Given the description of an element on the screen output the (x, y) to click on. 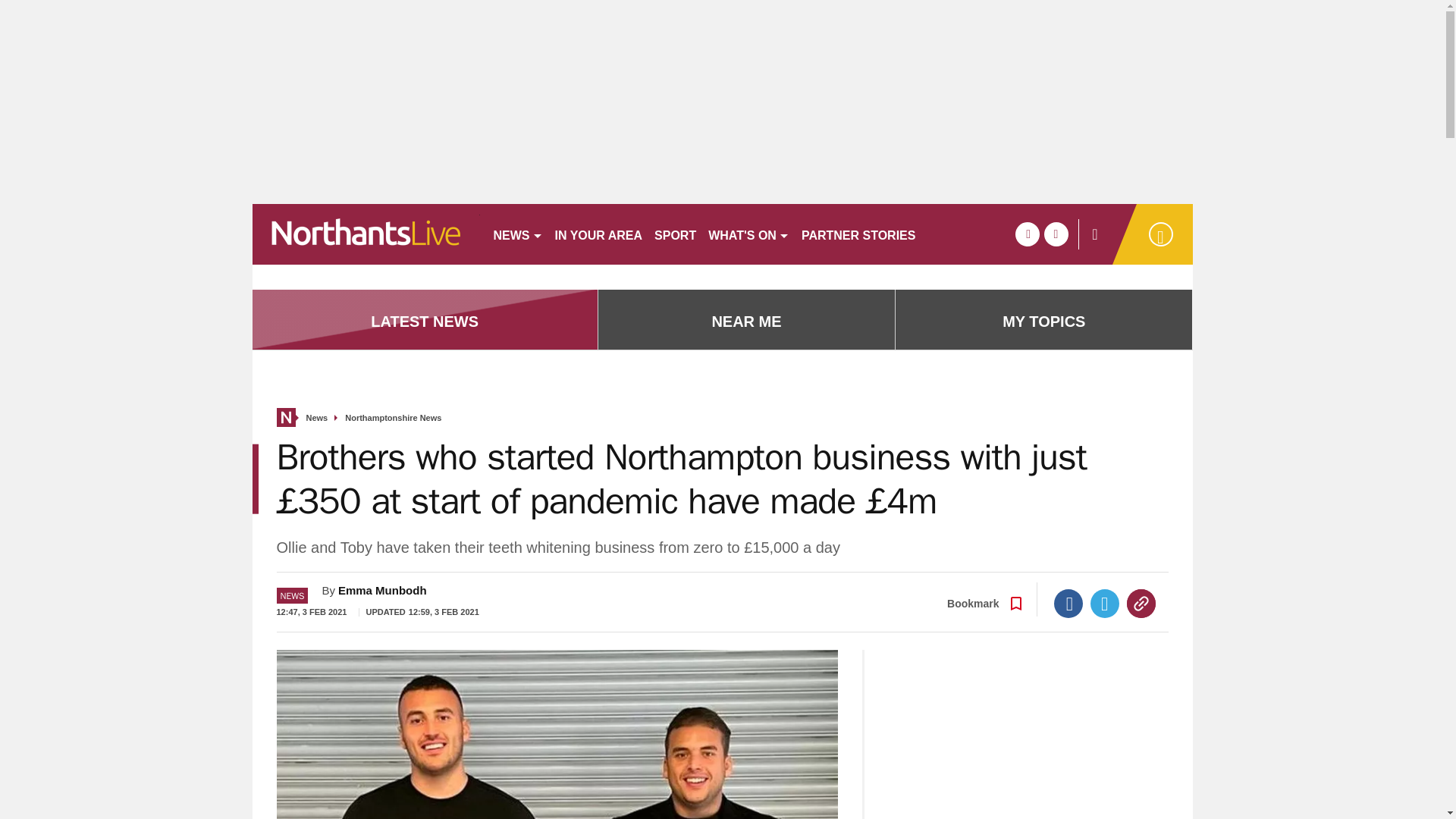
northantslive (365, 233)
facebook (1026, 233)
Twitter (1104, 603)
IN YOUR AREA (598, 233)
NEWS (517, 233)
Facebook (1068, 603)
twitter (1055, 233)
MY TOPICS (1043, 320)
Northamptonshire News (393, 418)
News (317, 418)
